Given the description of an element on the screen output the (x, y) to click on. 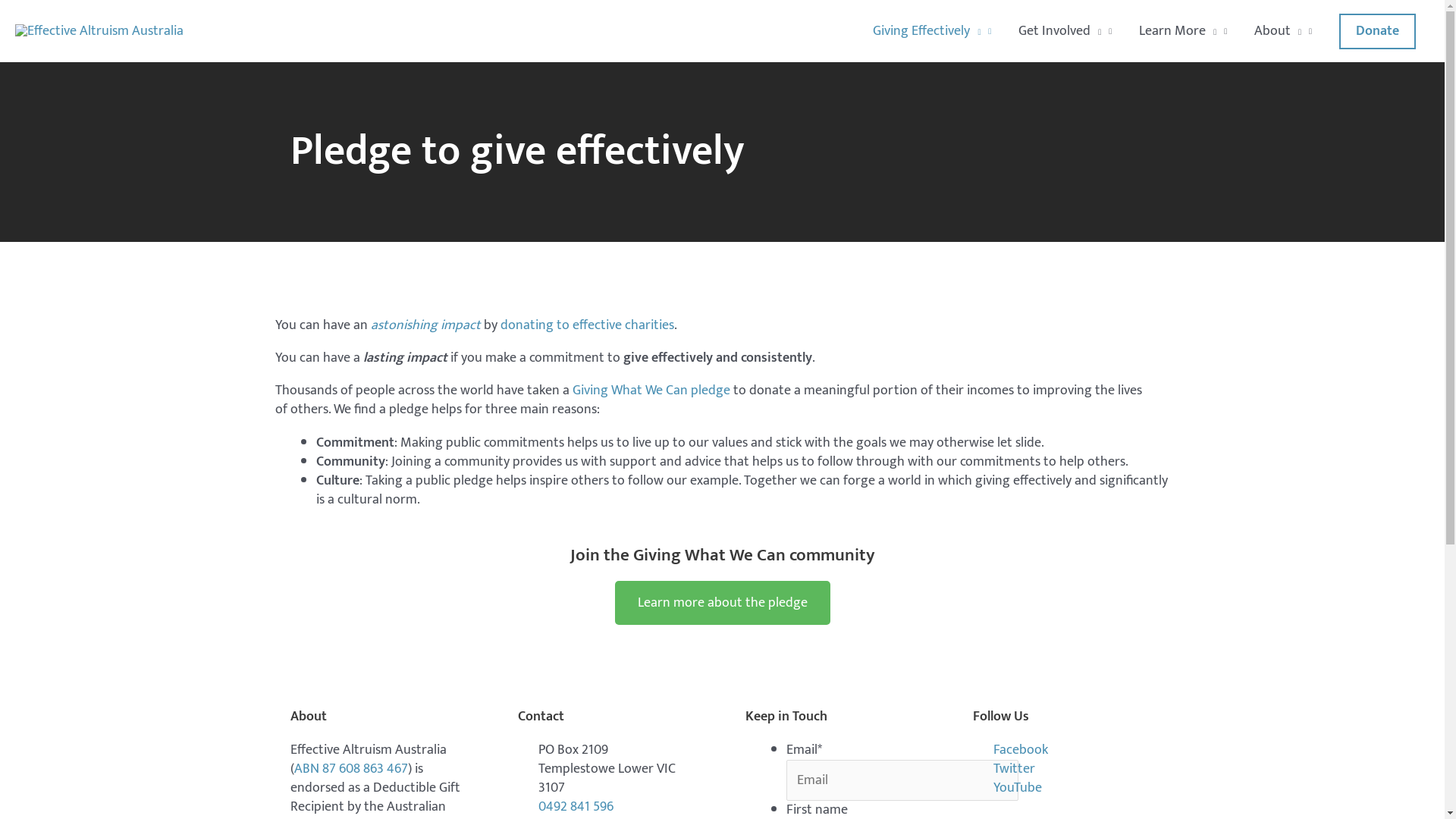
effective charities Element type: text (622, 324)
Twitter Element type: text (1063, 768)
About Element type: text (1282, 30)
Giving Effectively Element type: text (931, 30)
Donate Element type: text (1377, 31)
ABN 87 608 863 467 Element type: text (350, 768)
astonishing impact Element type: text (425, 324)
Giving What We Can pledge Element type: text (650, 390)
0492 841 596 Element type: text (608, 806)
Learn More Element type: text (1182, 30)
YouTube Element type: text (1063, 787)
Facebook Element type: text (1063, 749)
Get Involved Element type: text (1064, 30)
donating to Element type: text (536, 324)
Learn more about the pledge Element type: text (721, 602)
